Given the description of an element on the screen output the (x, y) to click on. 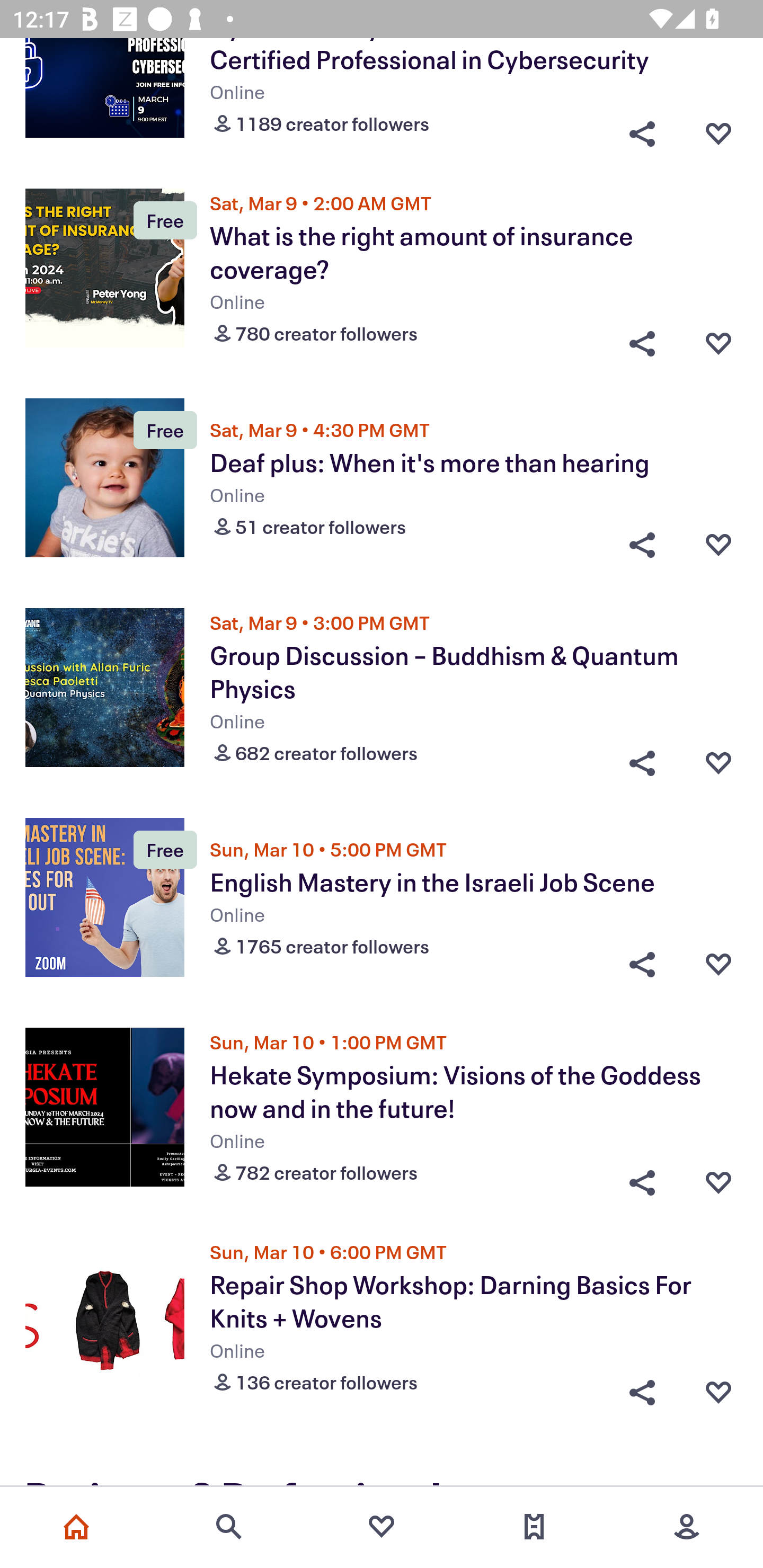
Share button (642, 129)
Favorite button (718, 129)
Share button (642, 339)
Favorite button (718, 339)
Share button (642, 544)
Favorite button (718, 544)
Share button (642, 757)
Favorite button (718, 757)
Share button (642, 963)
Favorite button (718, 963)
Share button (642, 1178)
Favorite button (718, 1178)
Share button (642, 1388)
Favorite button (718, 1388)
Home (76, 1526)
Search events (228, 1526)
Favorites (381, 1526)
Tickets (533, 1526)
More (686, 1526)
